Given the description of an element on the screen output the (x, y) to click on. 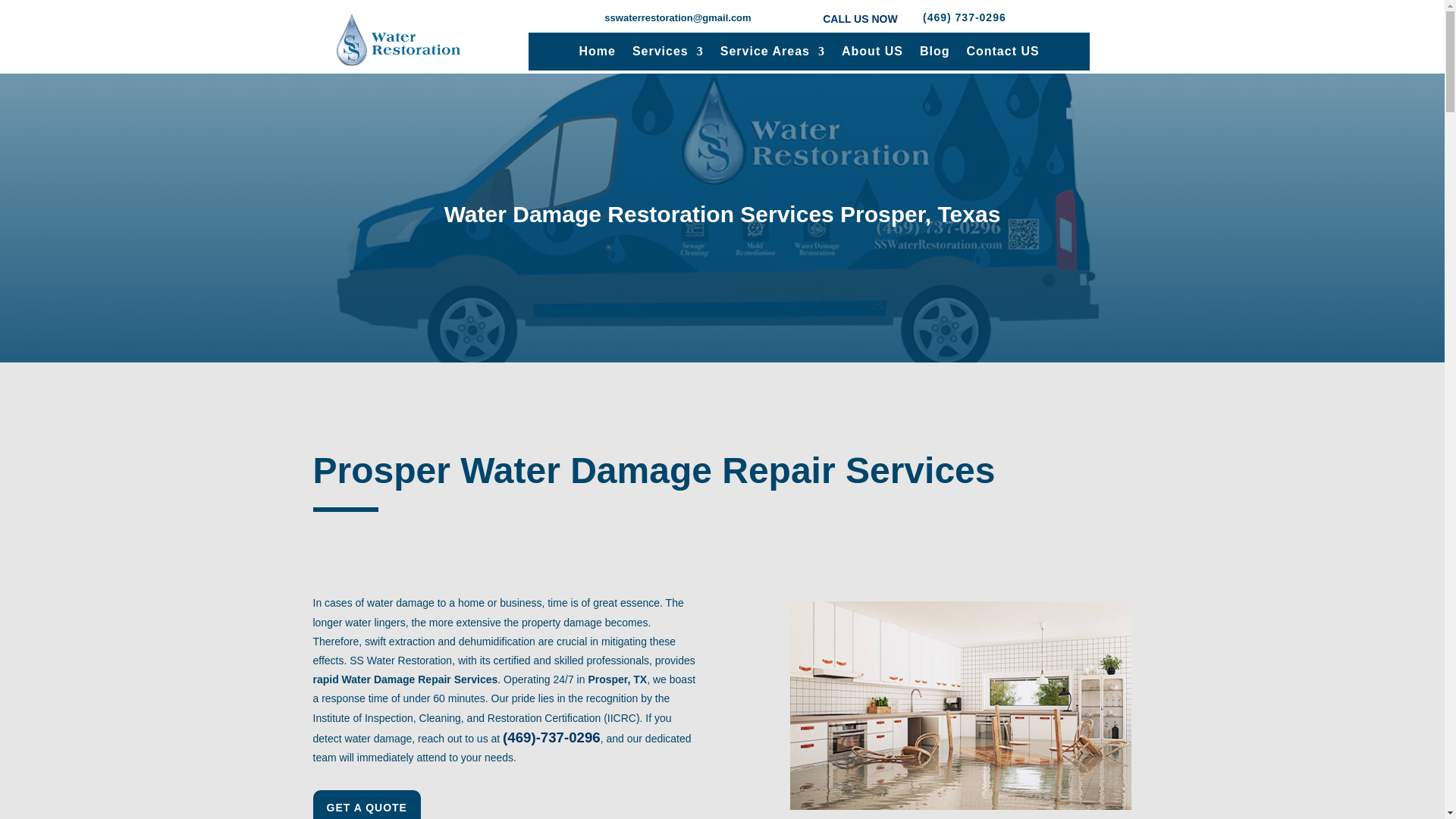
SS Water Restoration Logo (398, 39)
Services (667, 54)
Service Areas (772, 54)
CALL US NOW (860, 19)
Home (596, 54)
